Given the description of an element on the screen output the (x, y) to click on. 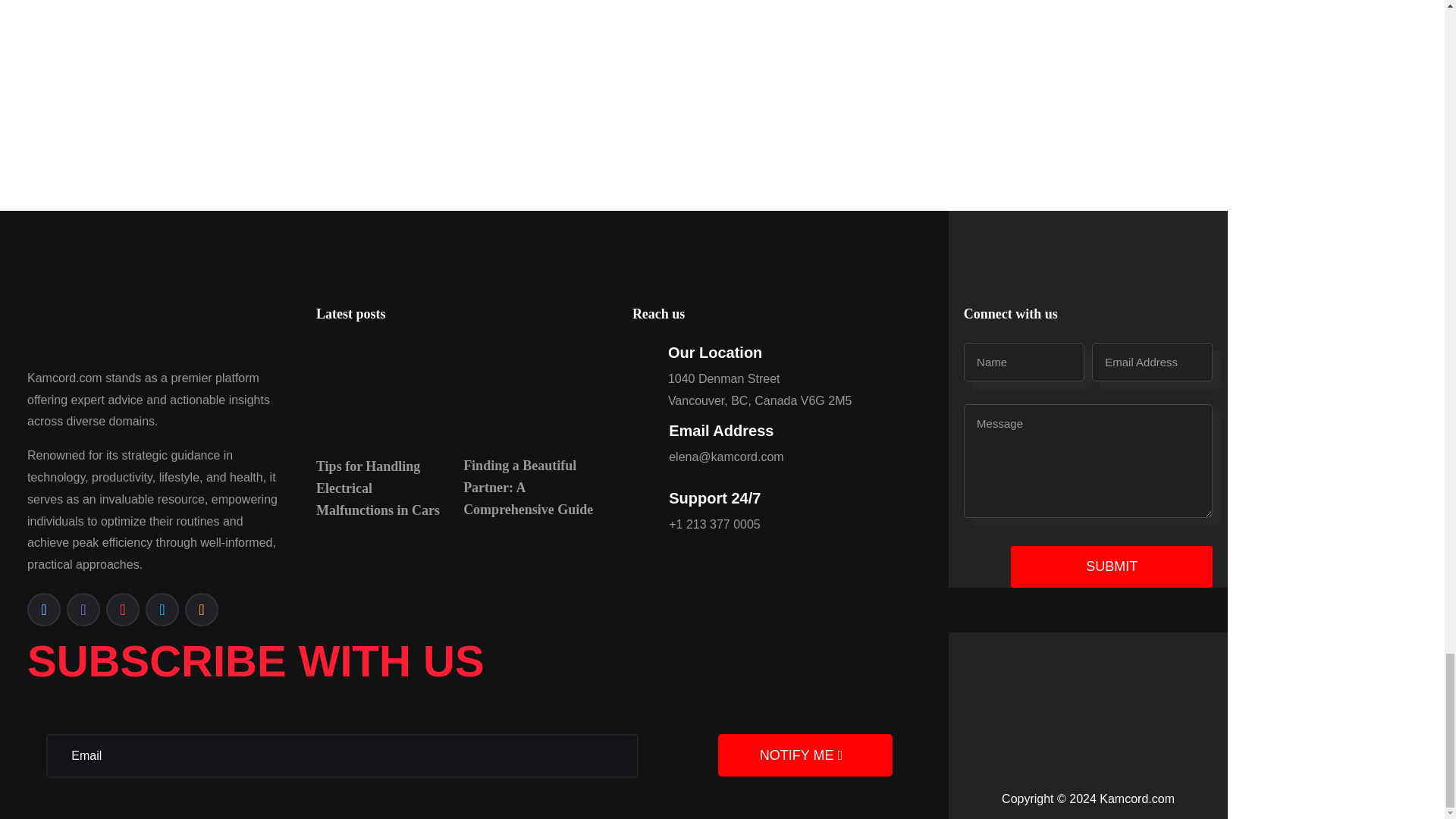
Follow on X (162, 609)
Follow on SoundCloud (201, 609)
Follow on Pinterest (122, 609)
Follow on Facebook (44, 609)
Follow on Instagram (83, 609)
